Given the description of an element on the screen output the (x, y) to click on. 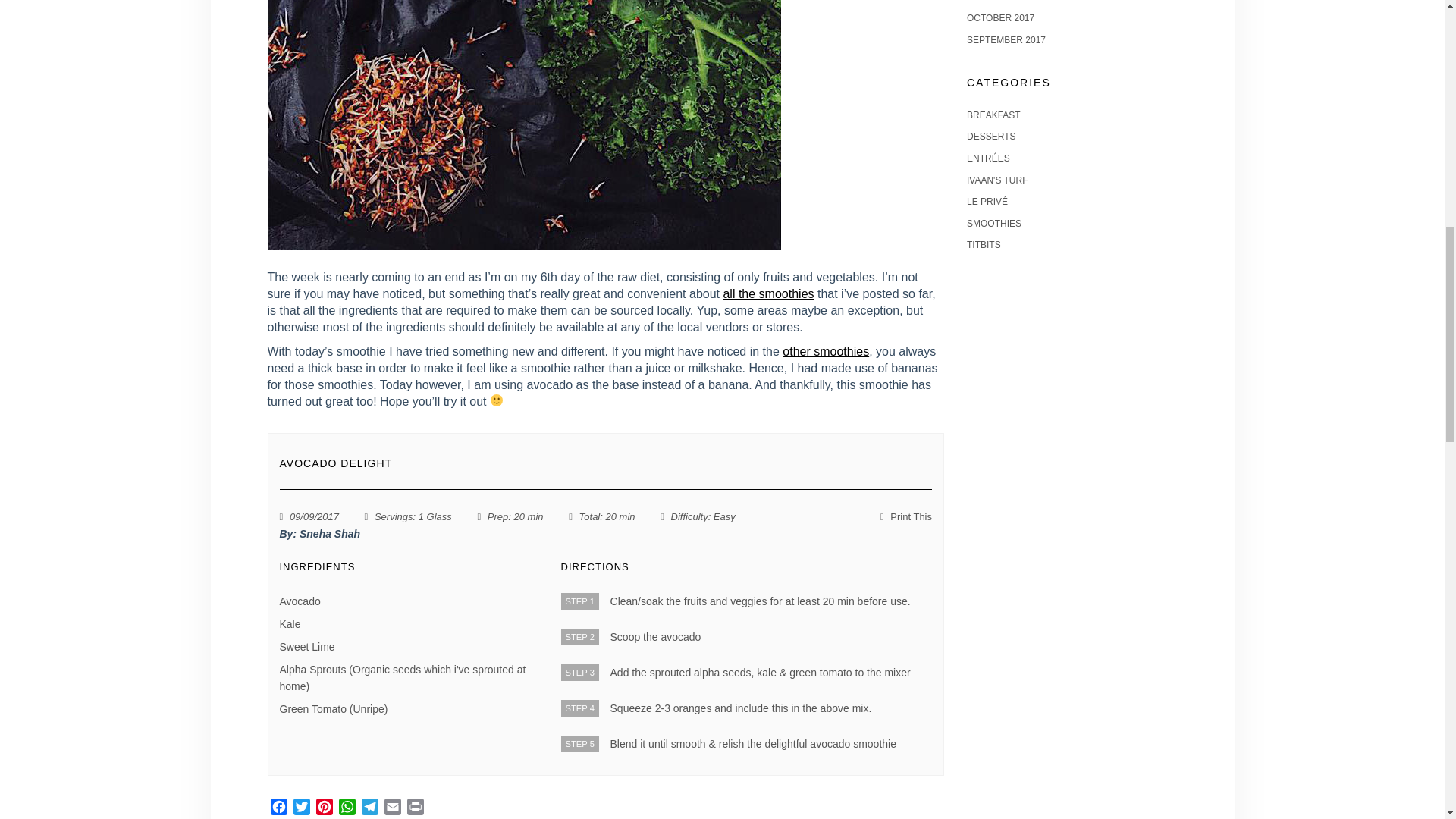
Email (391, 808)
all the smoothies (767, 292)
Facebook (277, 808)
Print This (905, 516)
Print (414, 808)
Facebook (277, 808)
other smoothies (826, 350)
Email (391, 808)
Telegram (369, 808)
Twitter (301, 808)
